Given the description of an element on the screen output the (x, y) to click on. 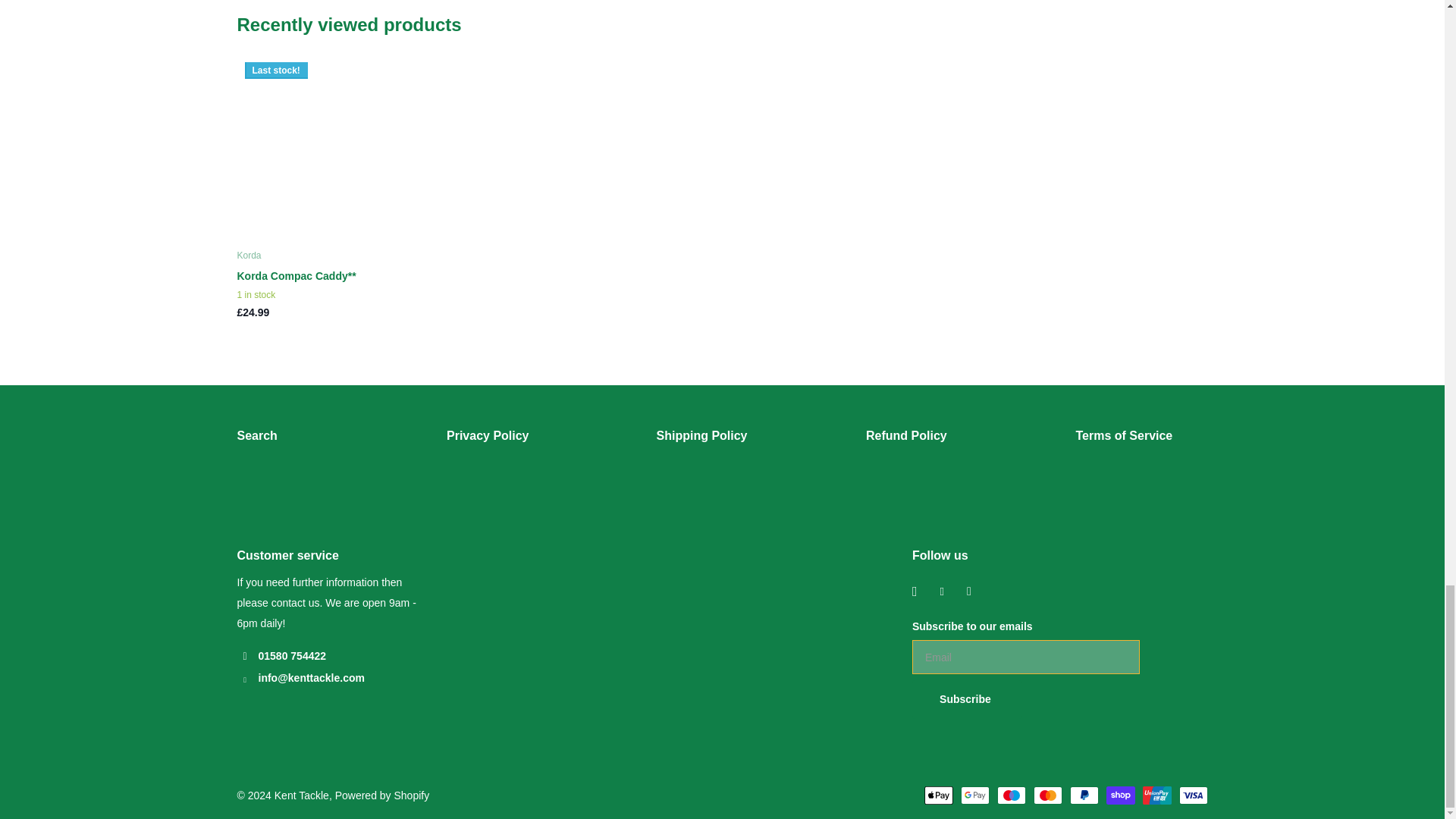
PayPal (1082, 795)
Shop Pay (1119, 795)
Visa (1192, 795)
Union Pay (1155, 795)
Maestro (1010, 795)
Apple Pay (937, 795)
Google Pay (973, 795)
Mastercard (1046, 795)
